Given the description of an element on the screen output the (x, y) to click on. 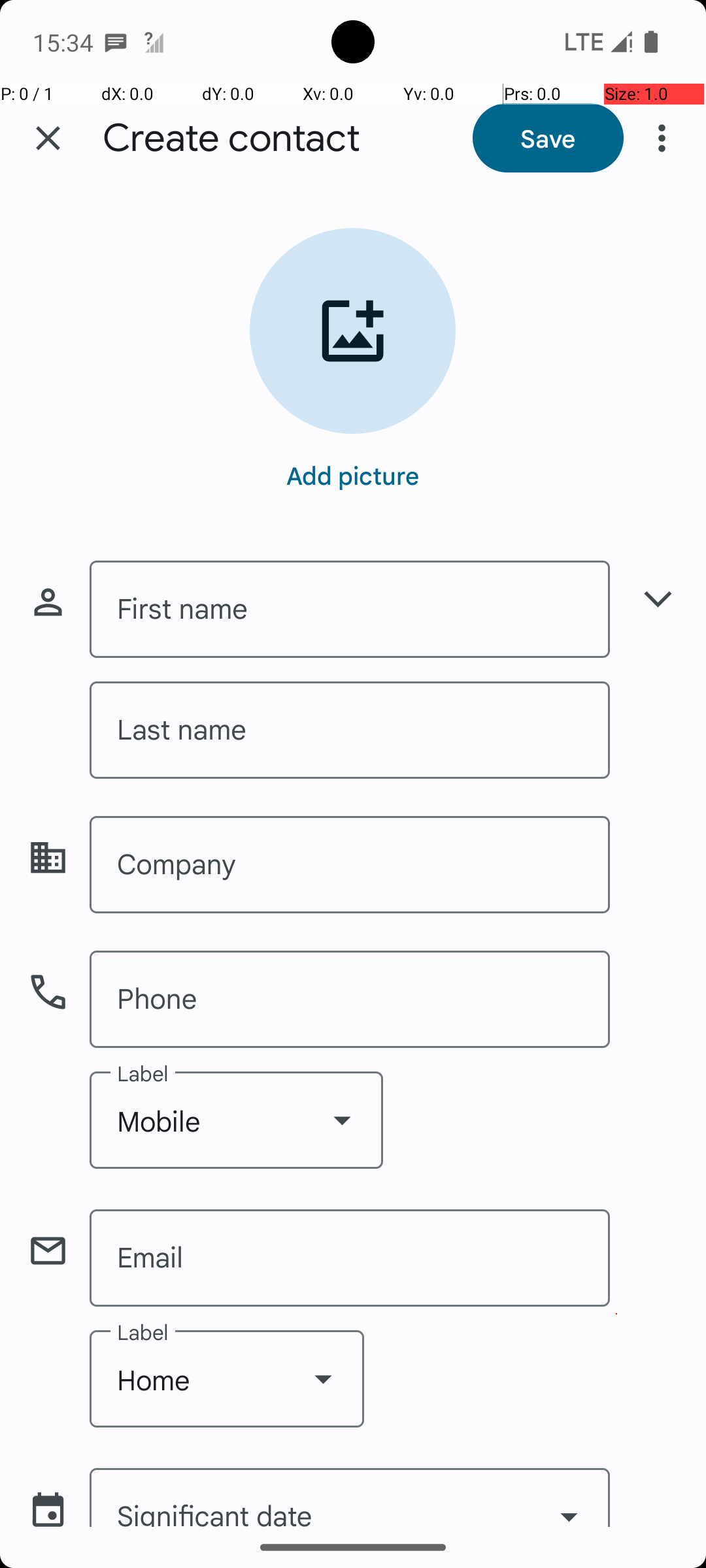
Add contact photo Element type: android.widget.FrameLayout (352, 330)
Add picture Element type: android.widget.Button (352, 474)
Email Element type: android.widget.EditText (349, 1257)
Significant date Element type: android.widget.EditText (349, 1497)
Show date picker Element type: android.widget.ImageButton (568, 1500)
Show more name fields Element type: android.widget.ImageView (657, 598)
